Given the description of an element on the screen output the (x, y) to click on. 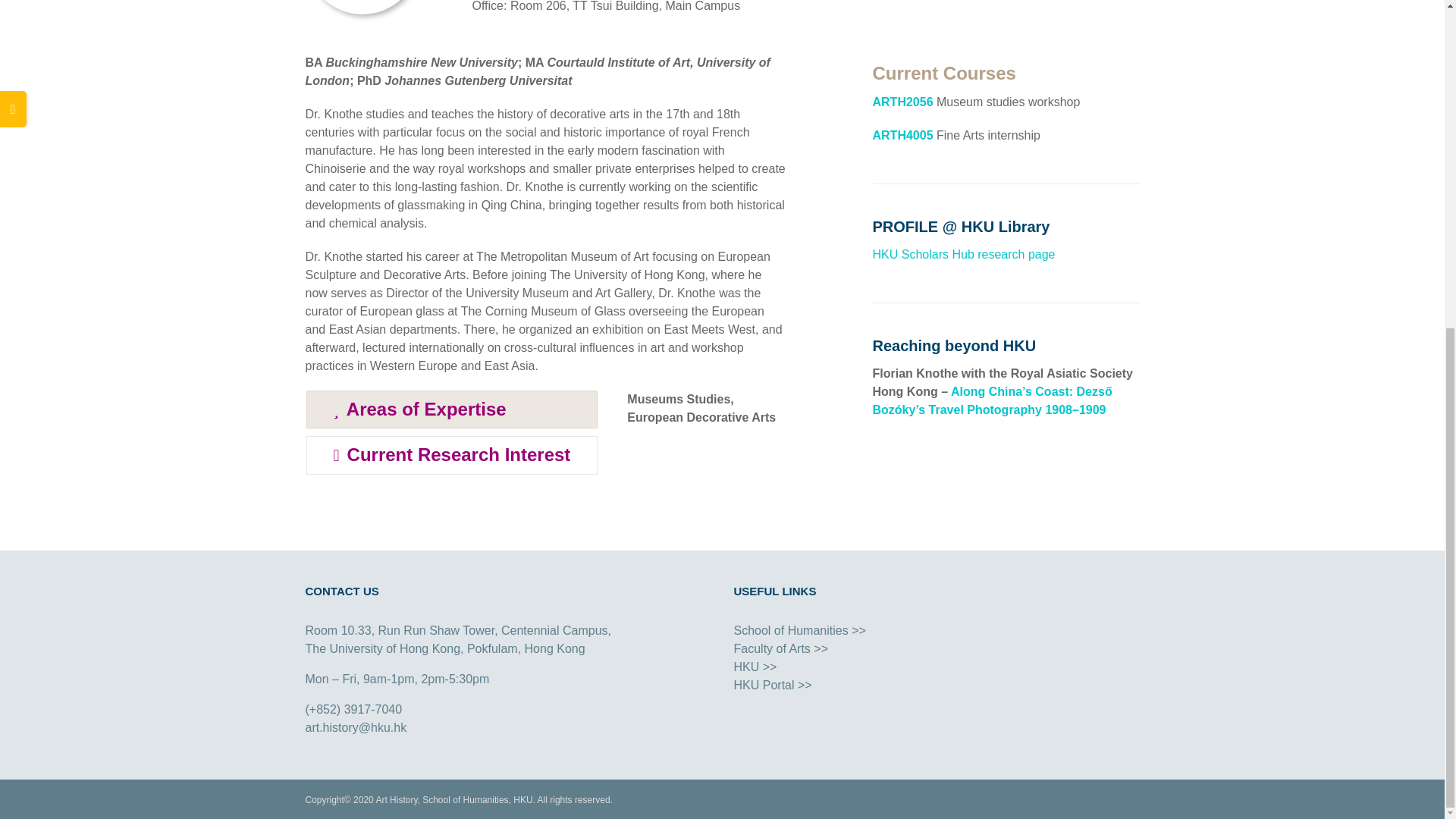
ARTH2056 (902, 101)
Current Research Interest (451, 455)
ARTH4005 (902, 134)
fknothe (361, 7)
Areas of Expertise (451, 409)
HKU Scholars Hub research page (963, 254)
